Given the description of an element on the screen output the (x, y) to click on. 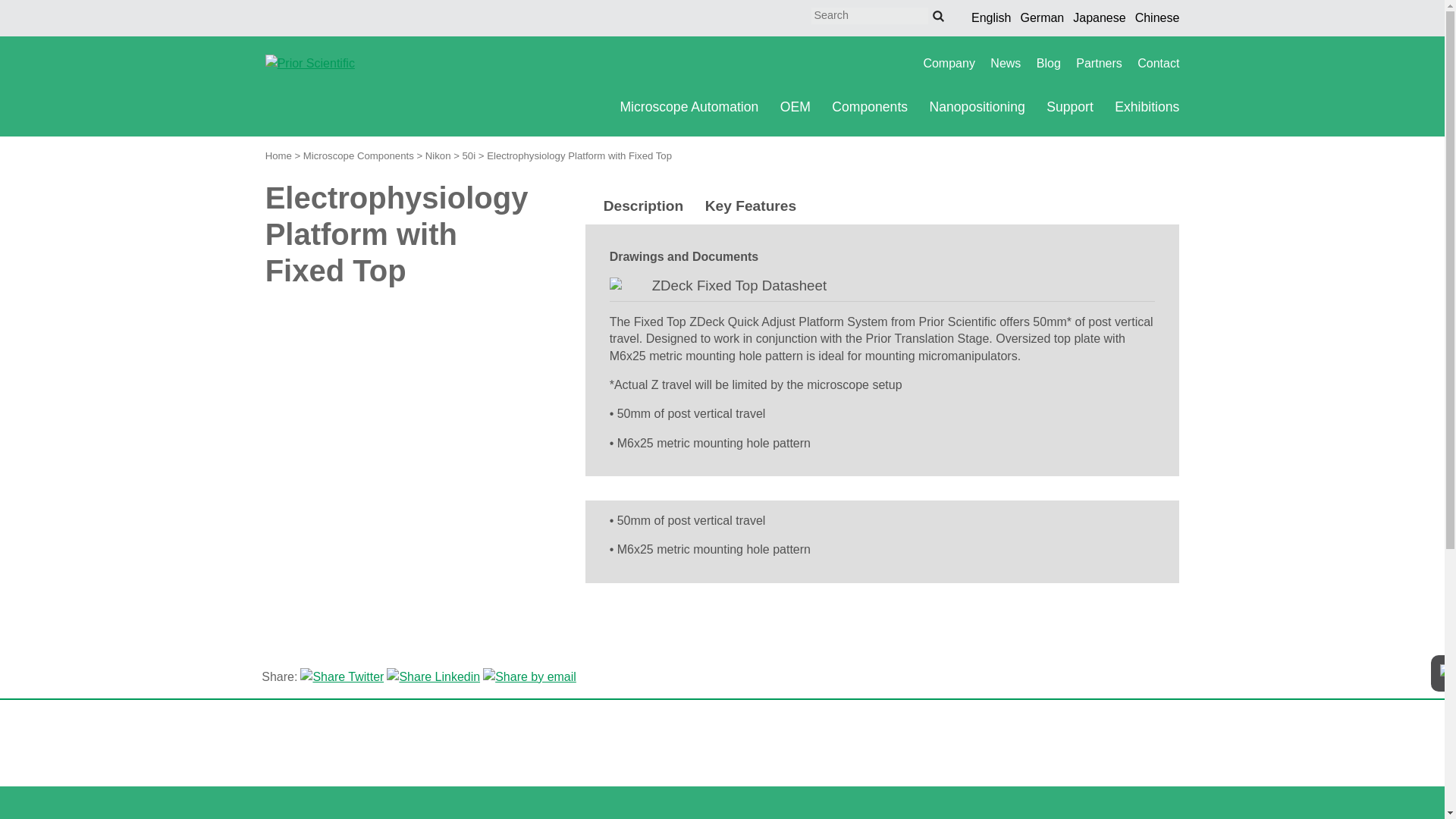
Chinese (1157, 17)
English (990, 17)
German (1042, 17)
Japanese (1099, 17)
